Given the description of an element on the screen output the (x, y) to click on. 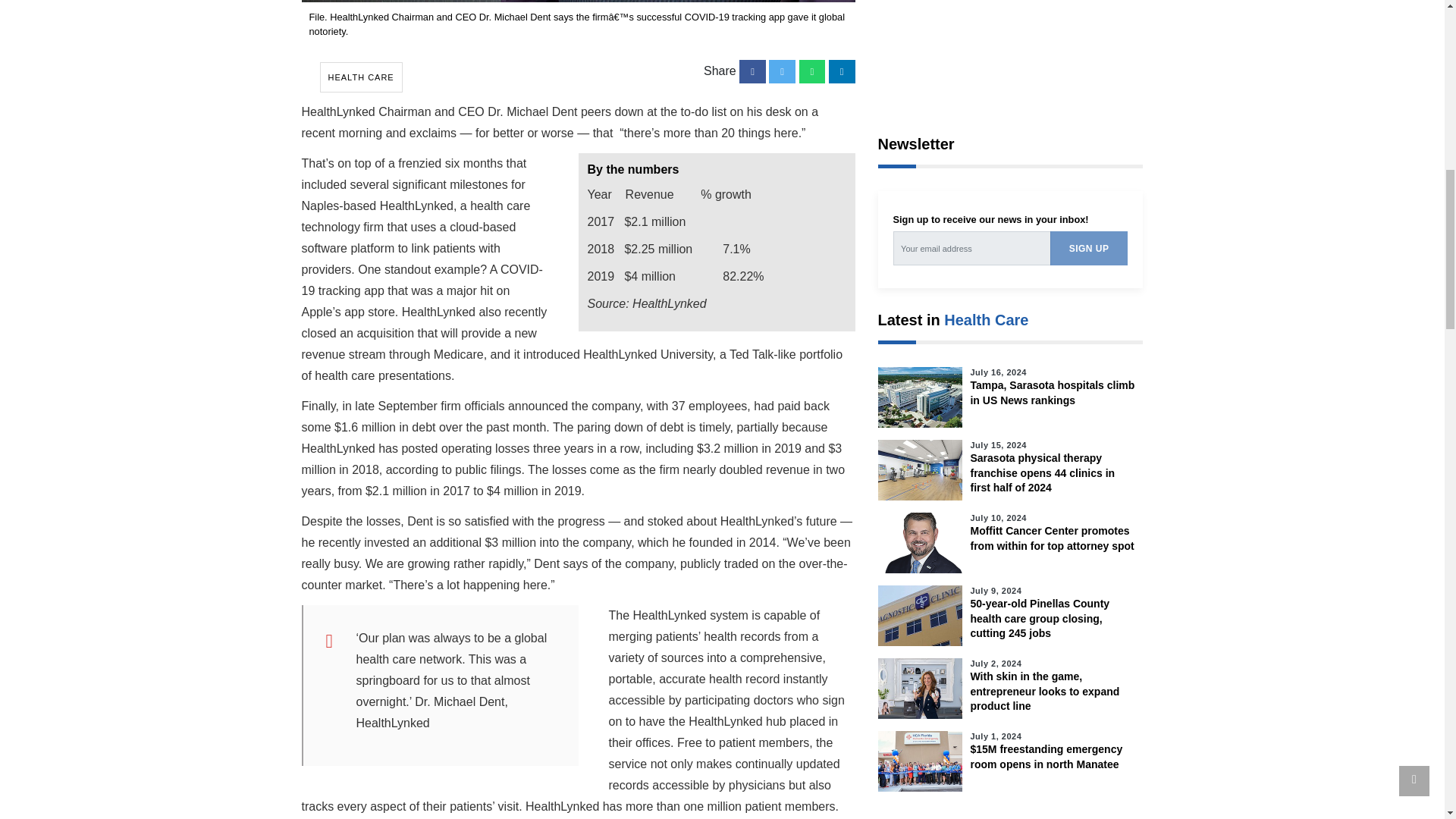
3rd party ad content (1010, 50)
